Given the description of an element on the screen output the (x, y) to click on. 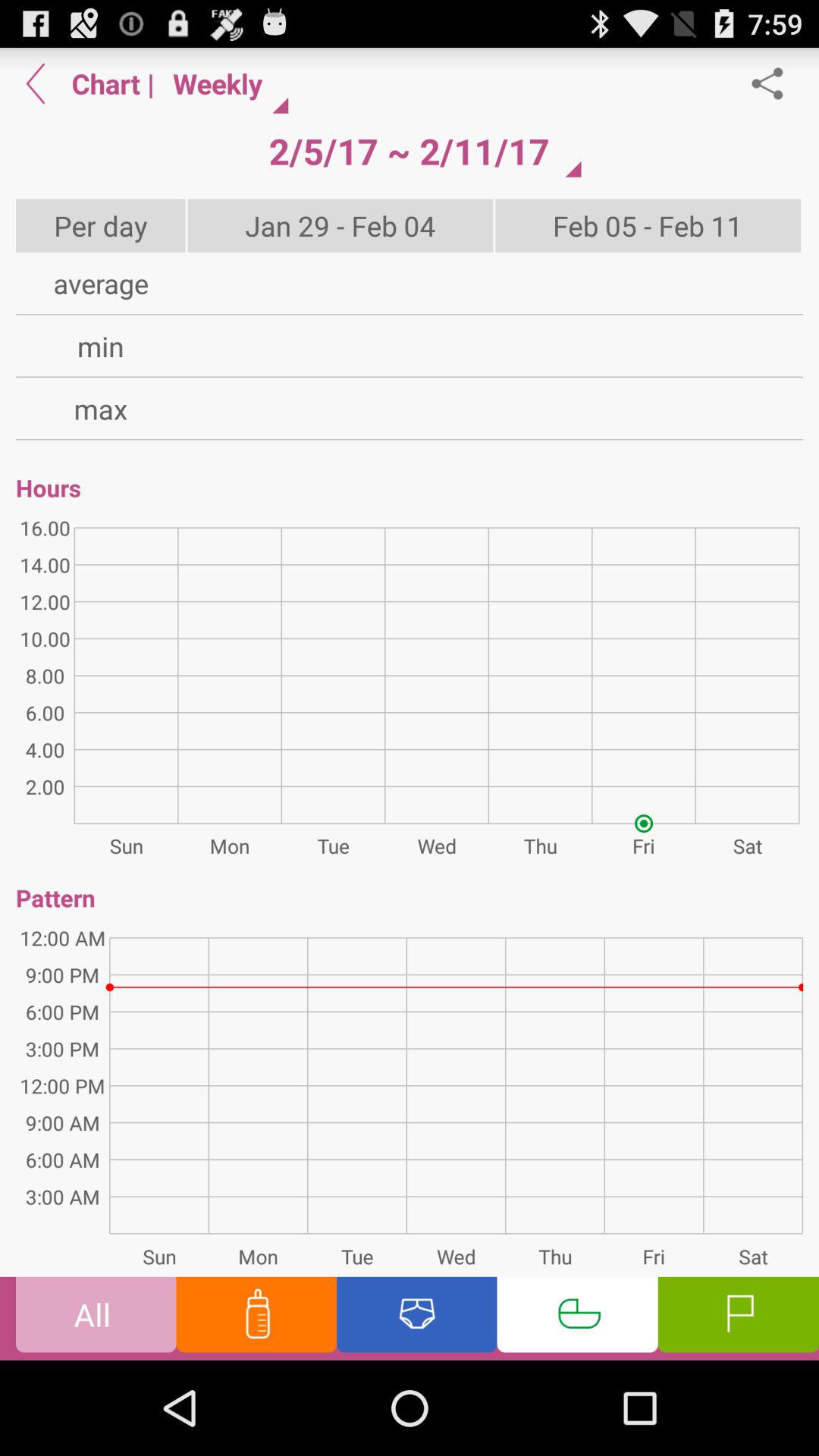
back (35, 83)
